Given the description of an element on the screen output the (x, y) to click on. 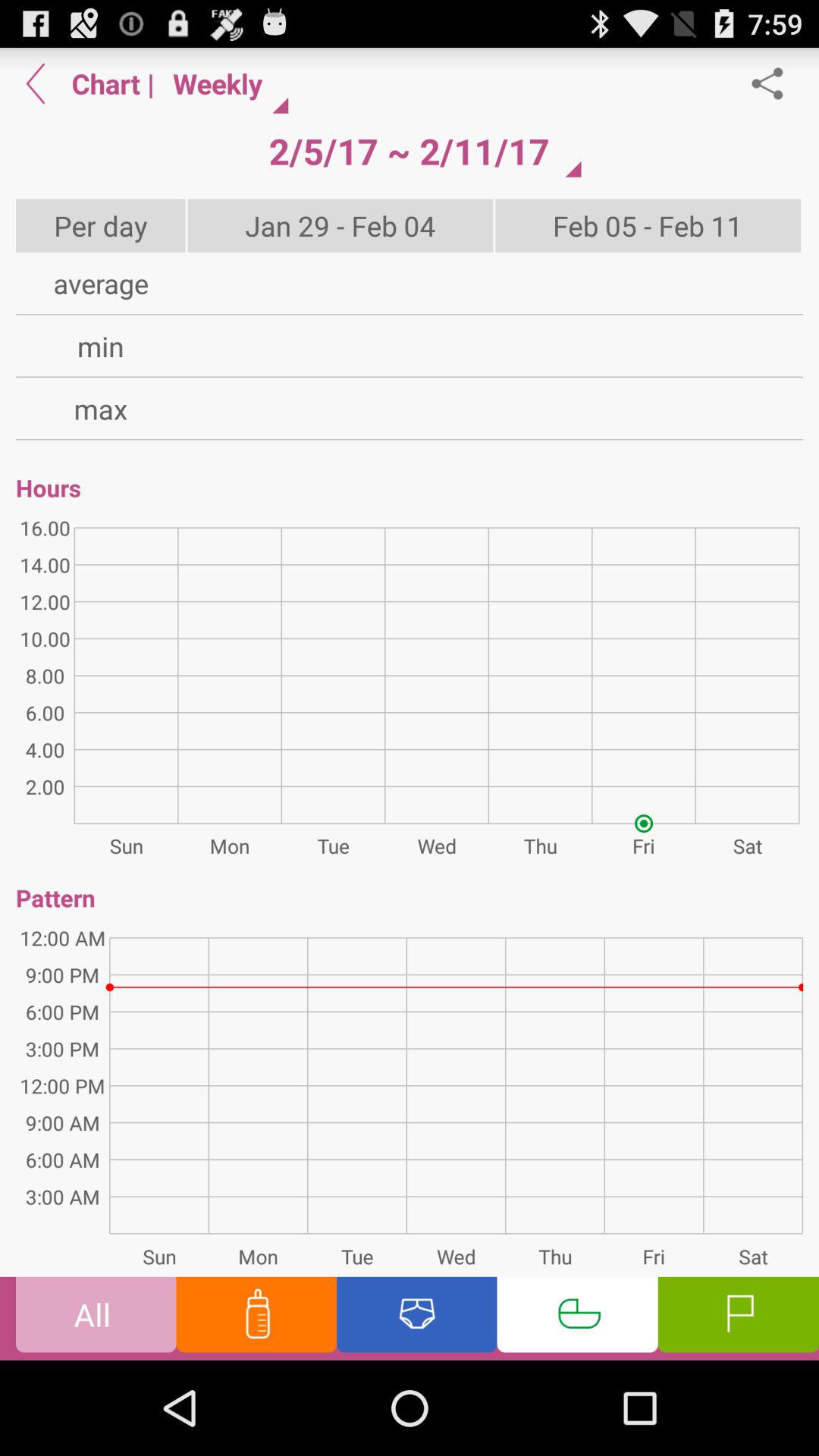
back (35, 83)
